Given the description of an element on the screen output the (x, y) to click on. 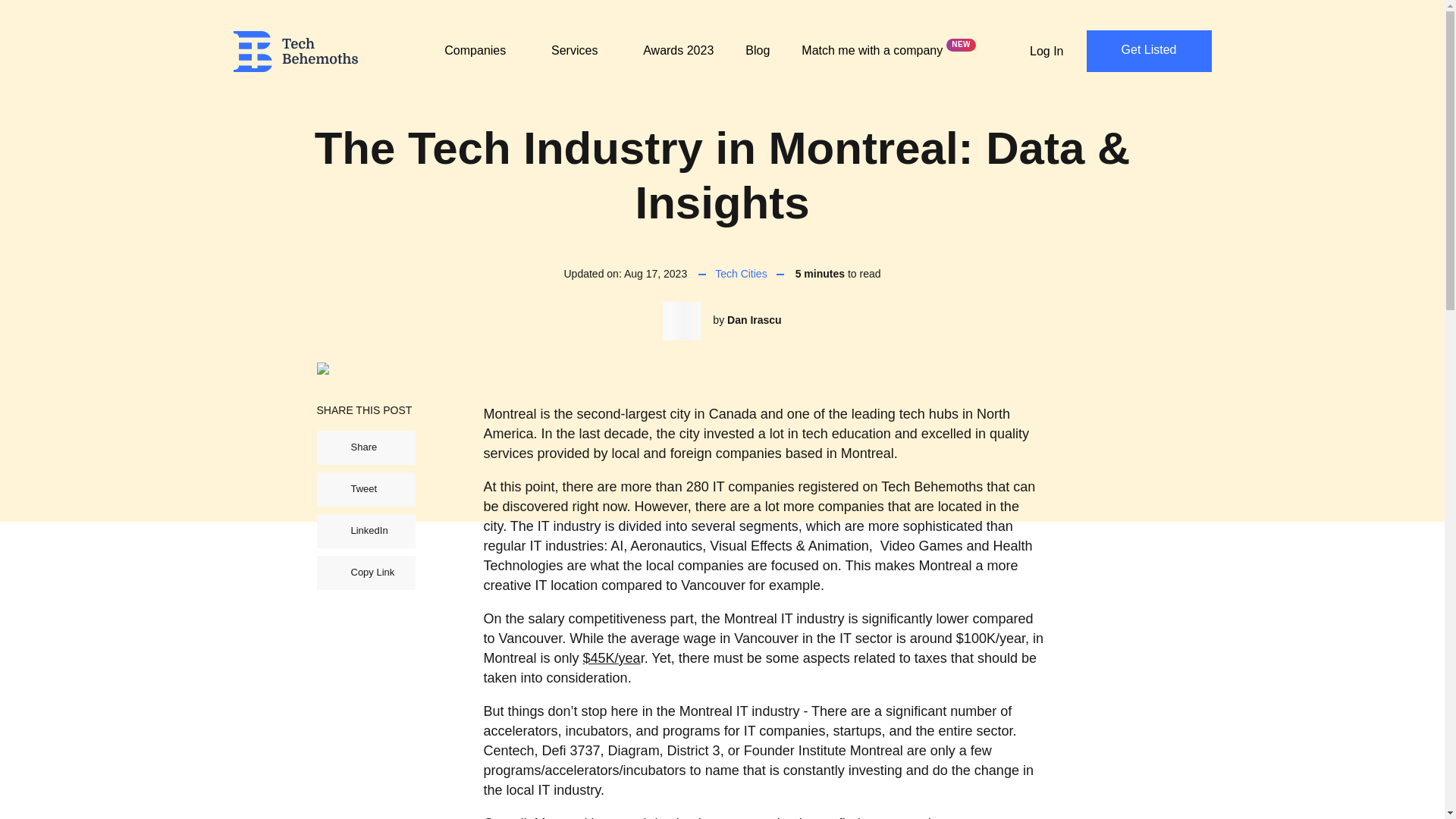
Companies (481, 59)
Tweet (365, 489)
LinkedIn (365, 530)
Share (365, 447)
